Given the description of an element on the screen output the (x, y) to click on. 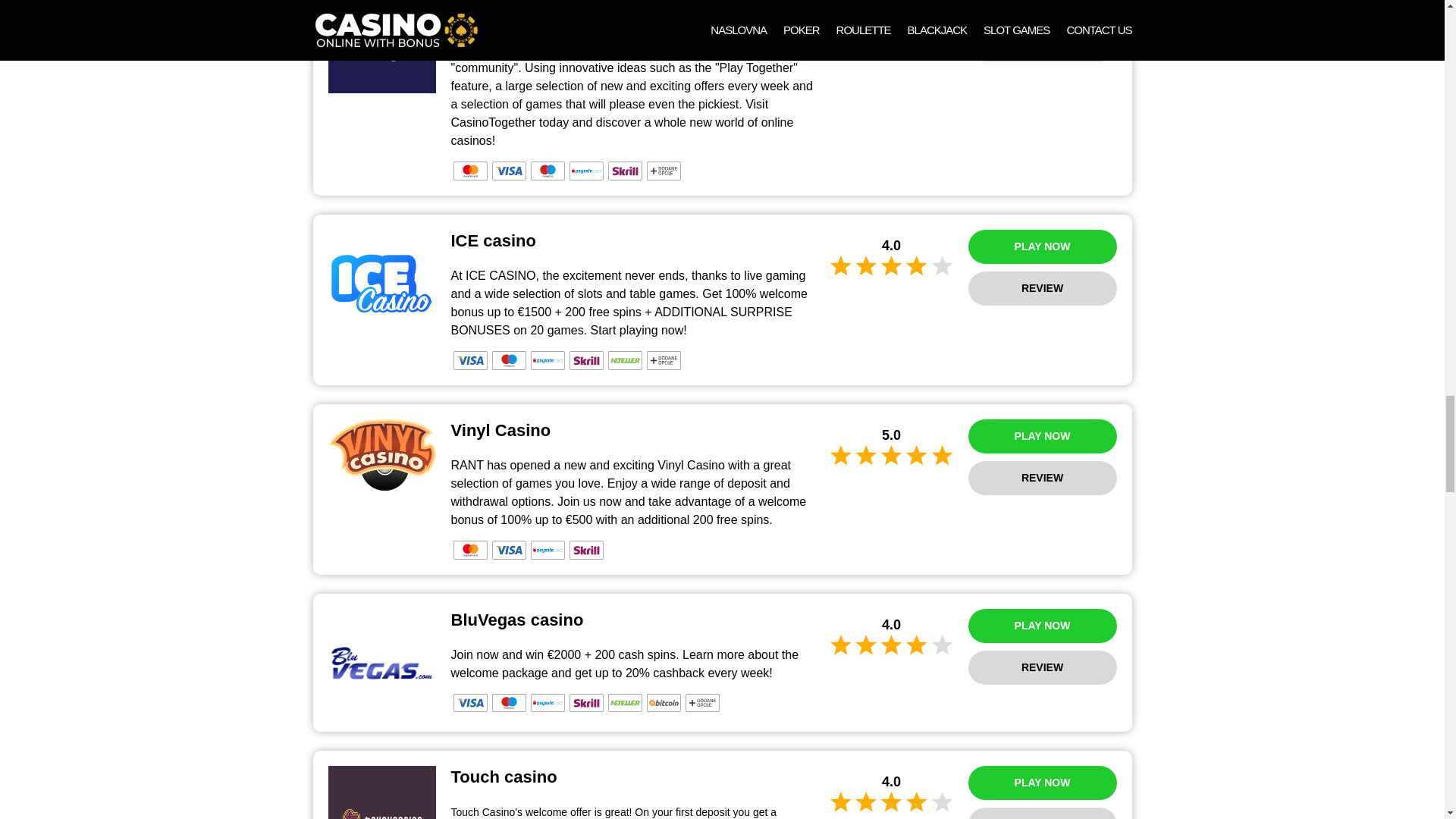
REVIEW (1042, 813)
REVIEW (1042, 667)
REVIEW (1042, 44)
REVIEW (1042, 478)
PLAY NOW (1042, 436)
REVIEW (1042, 288)
PLAY NOW (1042, 9)
PLAY NOW (1042, 625)
PLAY NOW (1042, 782)
PLAY NOW (1042, 246)
